Given the description of an element on the screen output the (x, y) to click on. 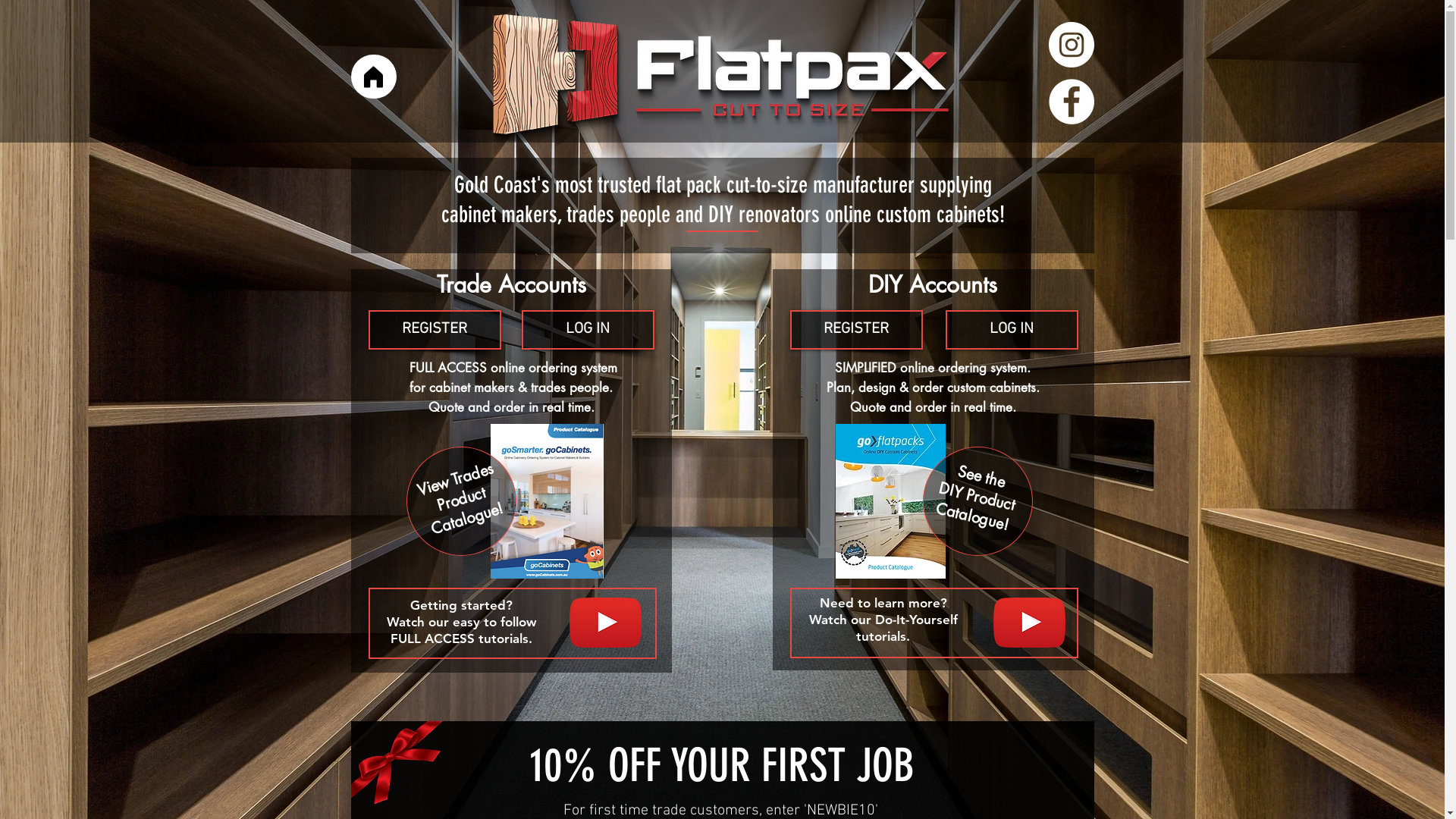
LOG IN Element type: text (1010, 329)
REGISTER Element type: text (856, 329)
REGISTER Element type: text (434, 329)
LOG IN Element type: text (587, 329)
